Given the description of an element on the screen output the (x, y) to click on. 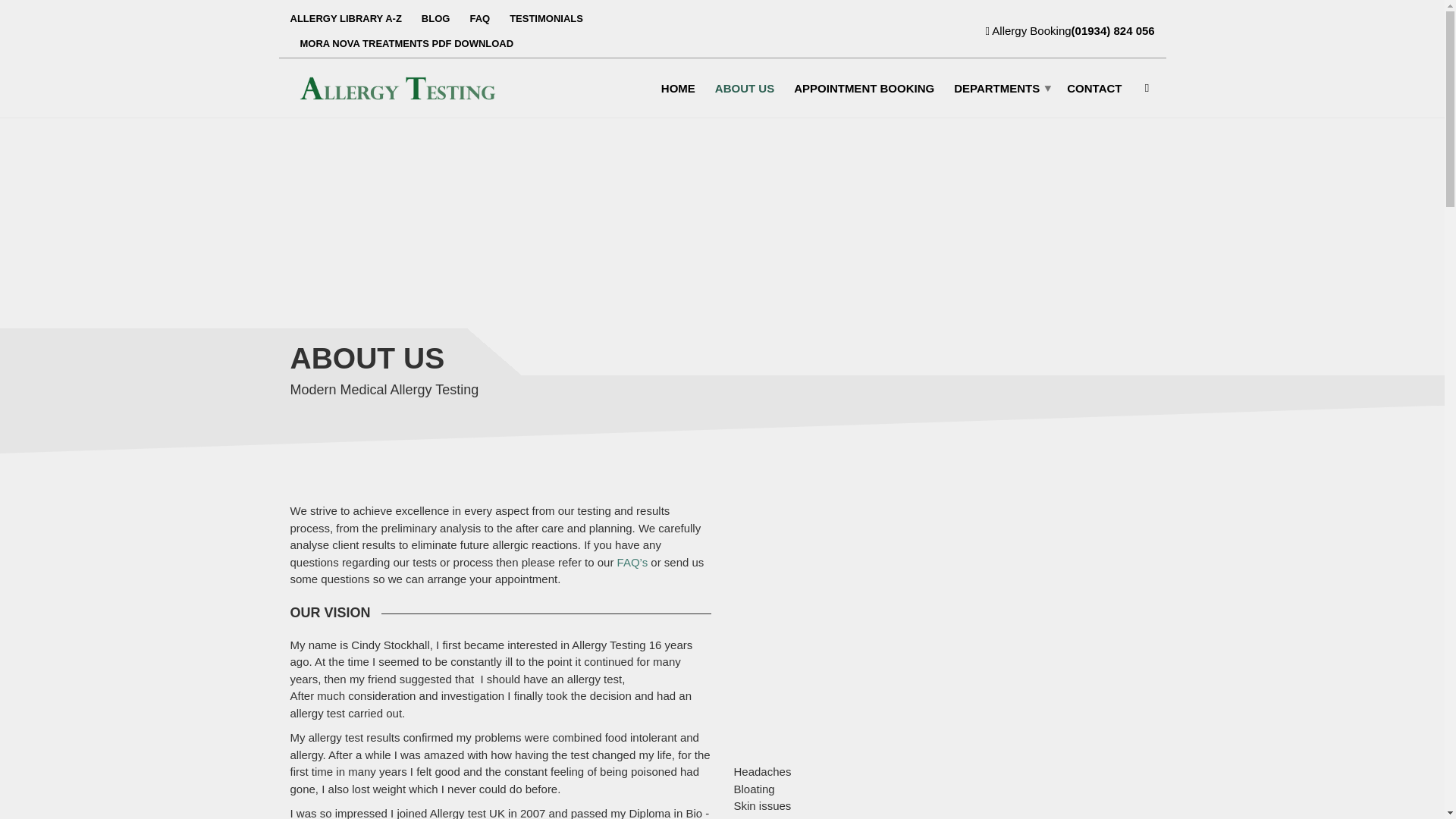
Appointment Booking (863, 87)
DEPARTMENTS (1000, 87)
ABOUT US (744, 87)
Departments (1000, 87)
About Us (744, 87)
FAQ (479, 18)
TESTIMONIALS (545, 18)
CONTACT (1094, 87)
MORA NOVA TREATMENTS PDF DOWNLOAD (401, 43)
Allergy Library A-Z (349, 18)
